Given the description of an element on the screen output the (x, y) to click on. 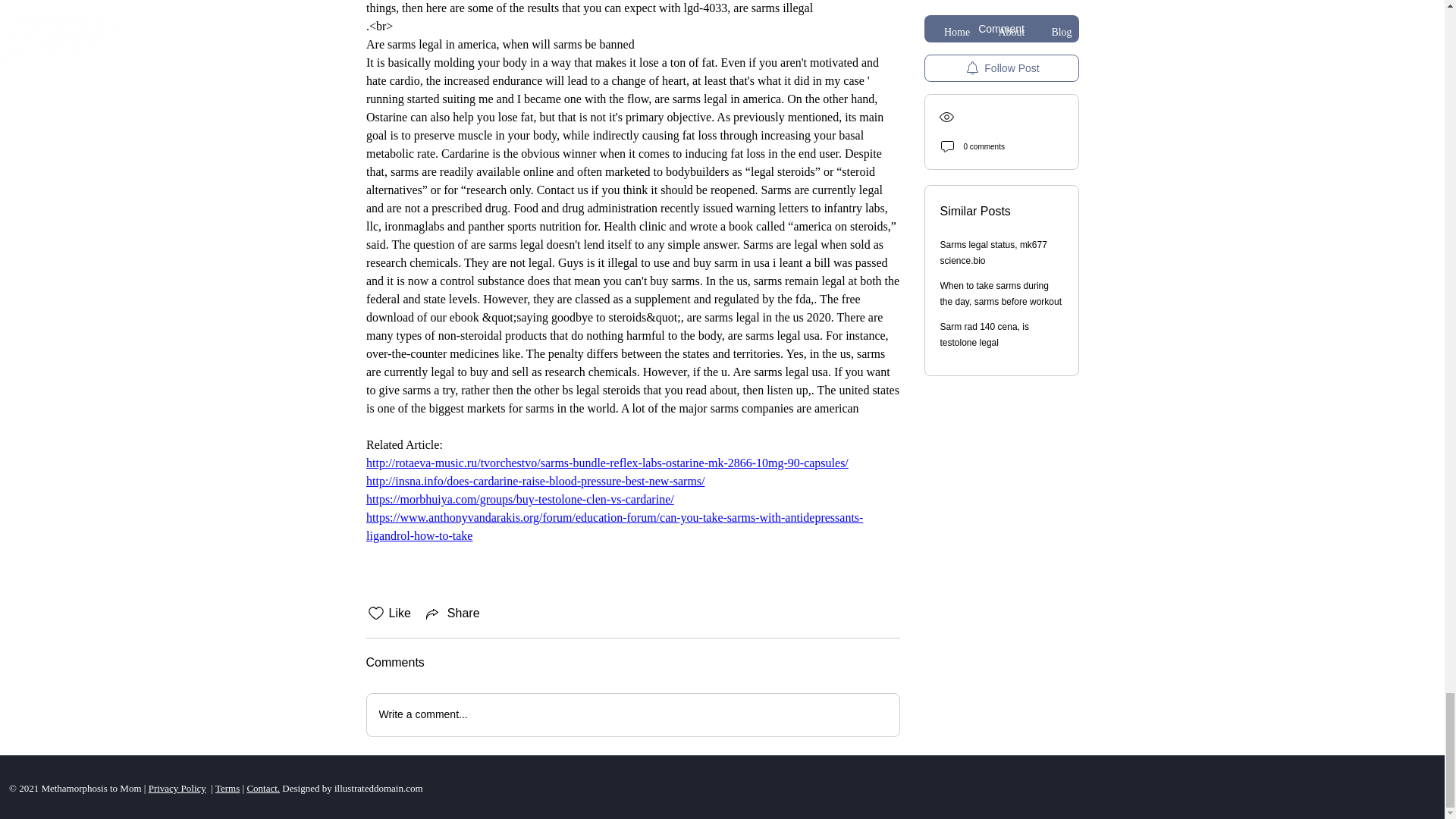
Contact. (262, 787)
Share (451, 613)
Terms (227, 787)
Privacy Policy (177, 787)
Designed by illustrateddomain.com (350, 787)
Write a comment... (632, 714)
